Given the description of an element on the screen output the (x, y) to click on. 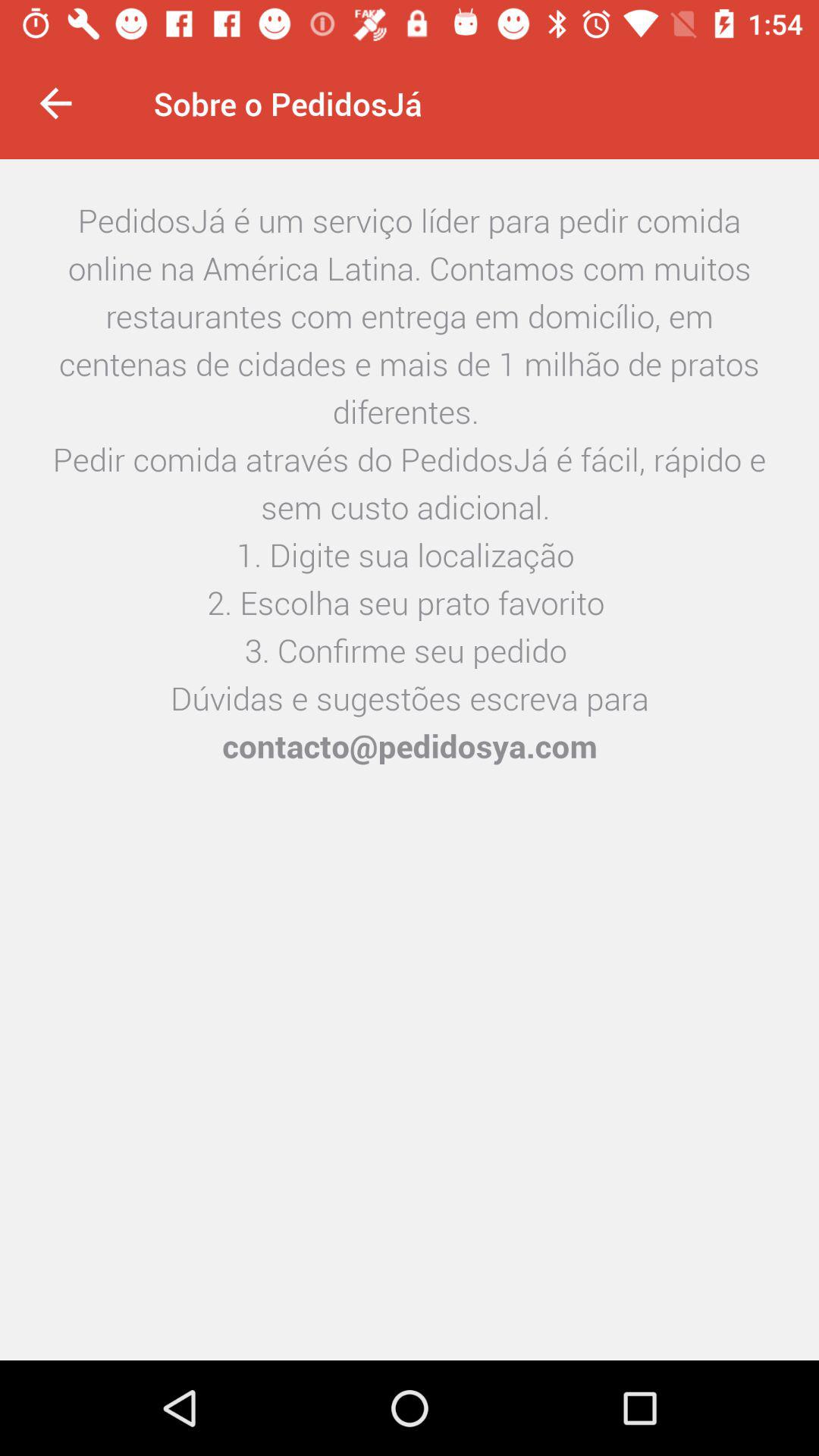
press the icon at the top left corner (55, 103)
